Given the description of an element on the screen output the (x, y) to click on. 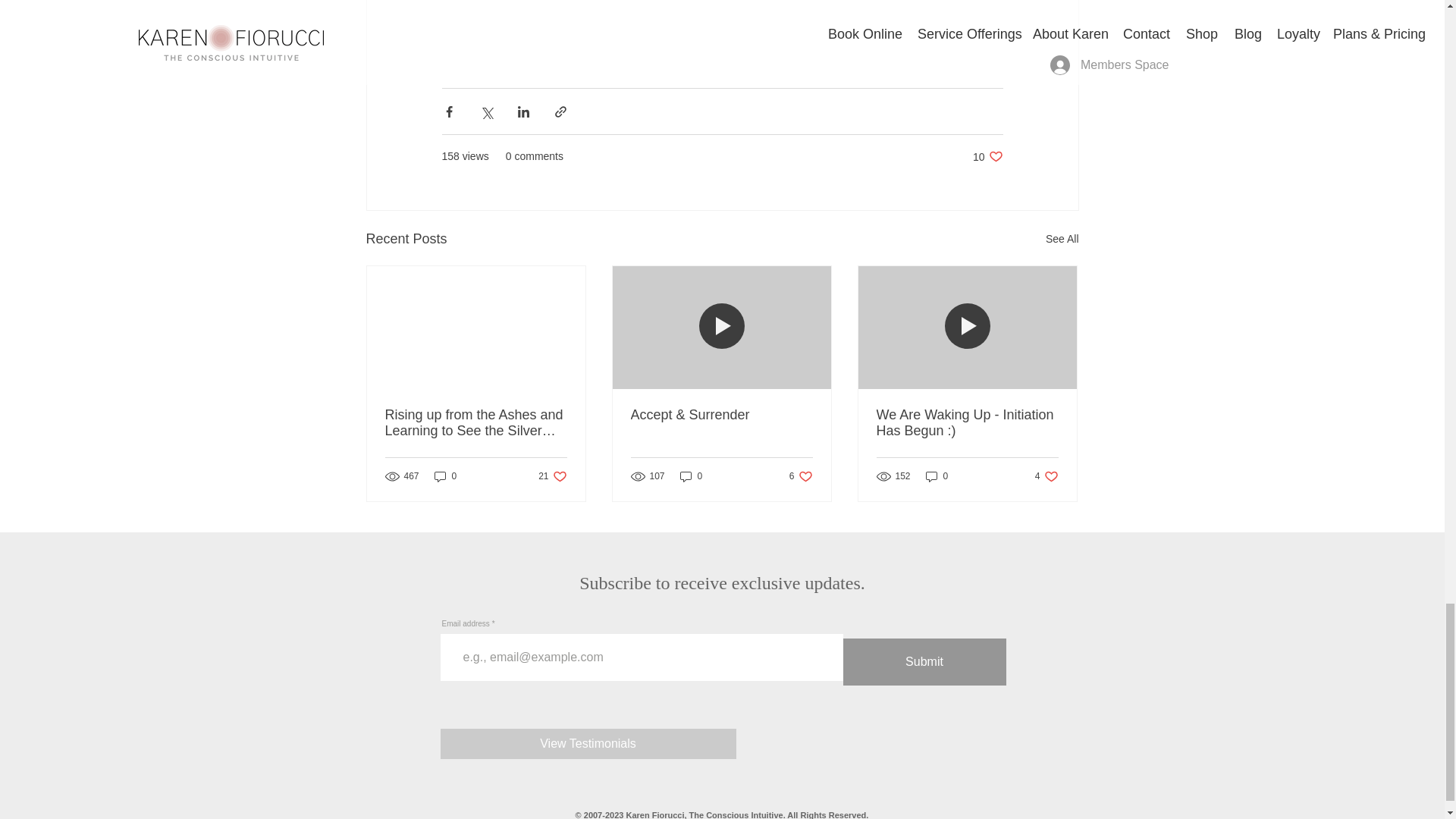
0 (552, 476)
0 (987, 156)
See All (445, 476)
